Given the description of an element on the screen output the (x, y) to click on. 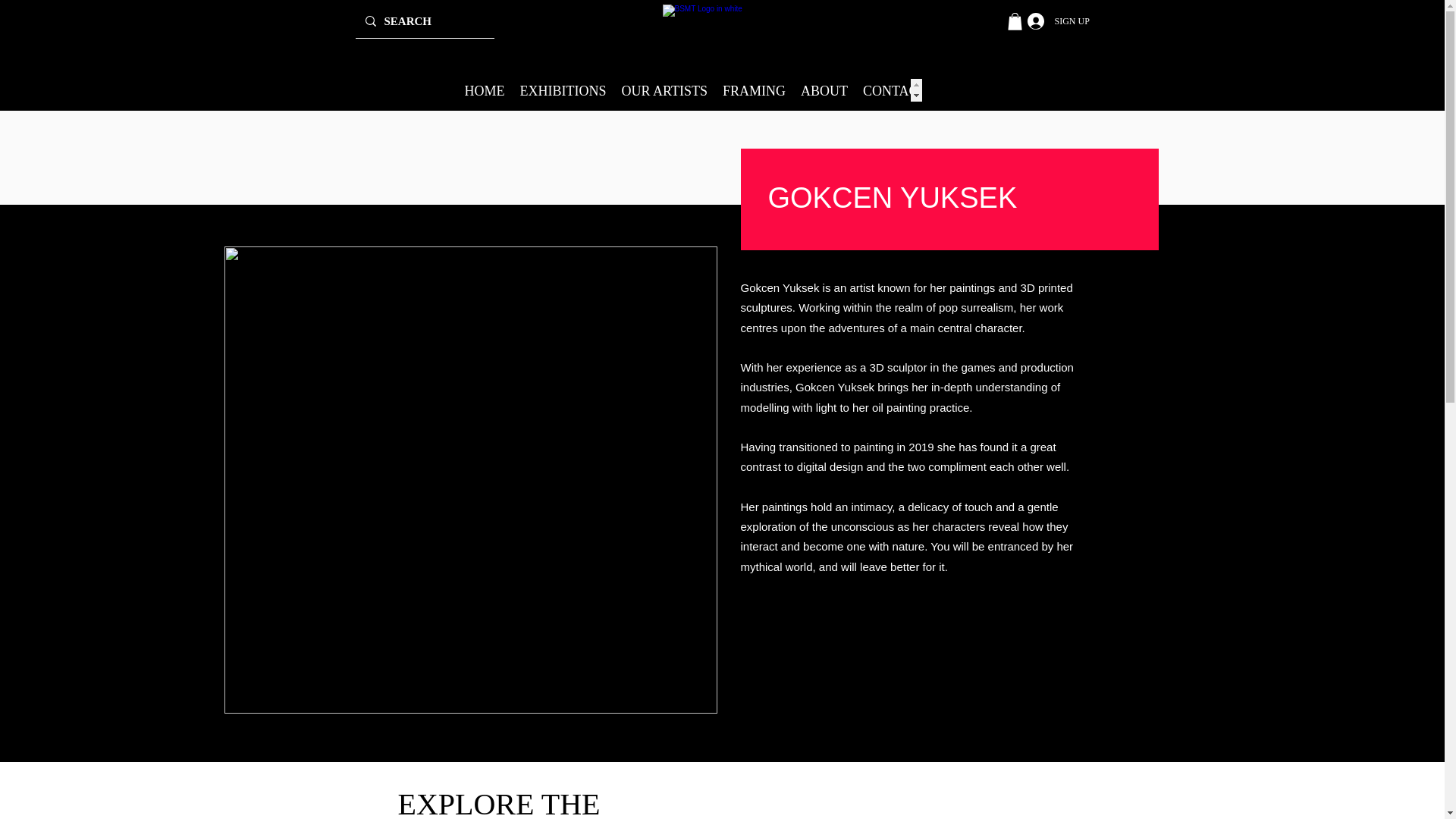
SIGN UP (1029, 21)
ABOUT (824, 89)
HOME (484, 89)
CONTACT (895, 89)
EXHIBITIONS (563, 89)
FRAMING (753, 89)
OUR ARTISTS (664, 89)
